Given the description of an element on the screen output the (x, y) to click on. 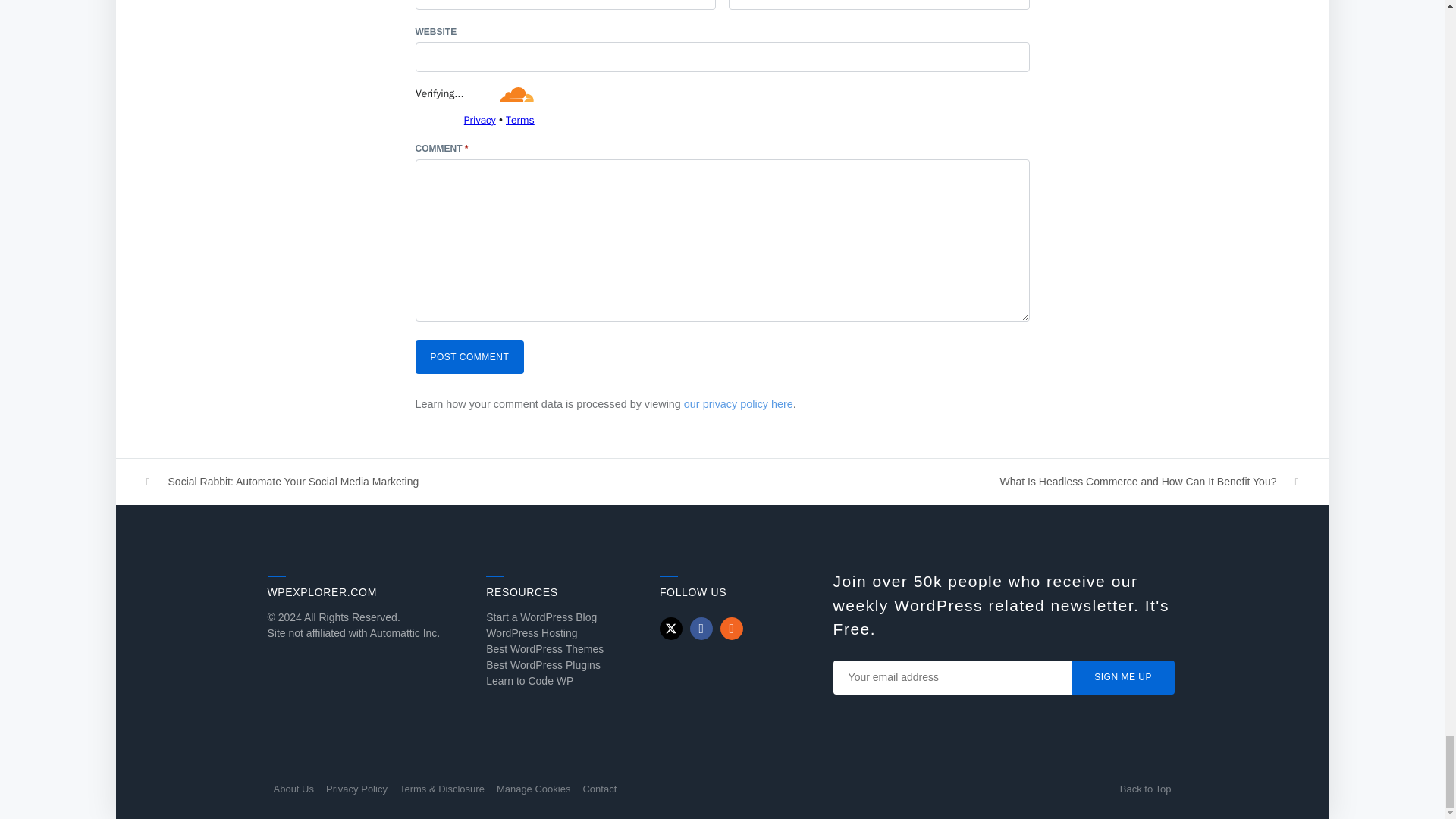
Like WPExplorer Facebook Page (701, 628)
our privacy policy here (738, 404)
What Is Headless Commerce and How Can It Benefit You? (1026, 481)
Start a WordPress Blog (541, 616)
WordPress Hosting (531, 633)
Best WordPress Plugins (542, 664)
Follow WPExplorer on Twitter (670, 628)
Subscribe to the WPExplorer Feed (731, 628)
Post Comment (469, 356)
Post Comment (469, 356)
Best WordPress Themes (545, 648)
Social Rabbit: Automate Your Social Media Marketing (418, 481)
Back to Top (1145, 789)
